Given the description of an element on the screen output the (x, y) to click on. 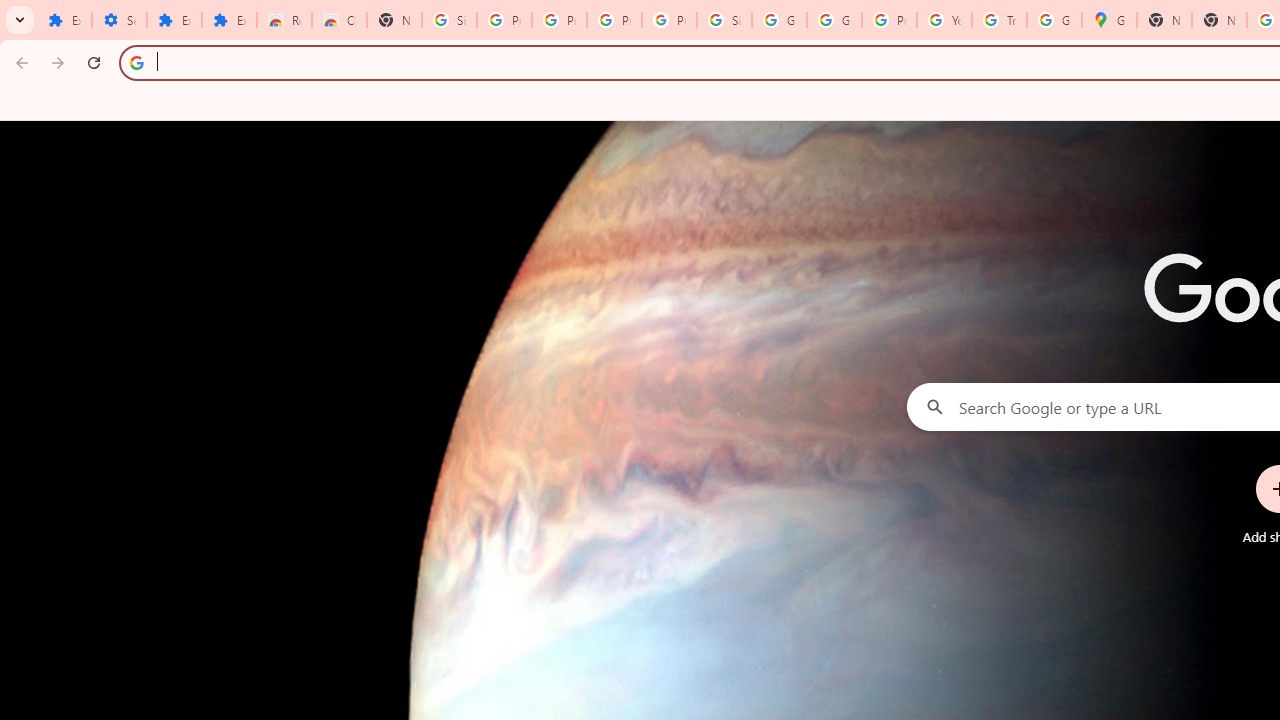
Chrome Web Store - Themes (339, 20)
Extensions (229, 20)
Extensions (174, 20)
Reviews: Helix Fruit Jump Arcade Game (284, 20)
Sign in - Google Accounts (724, 20)
